Given the description of an element on the screen output the (x, y) to click on. 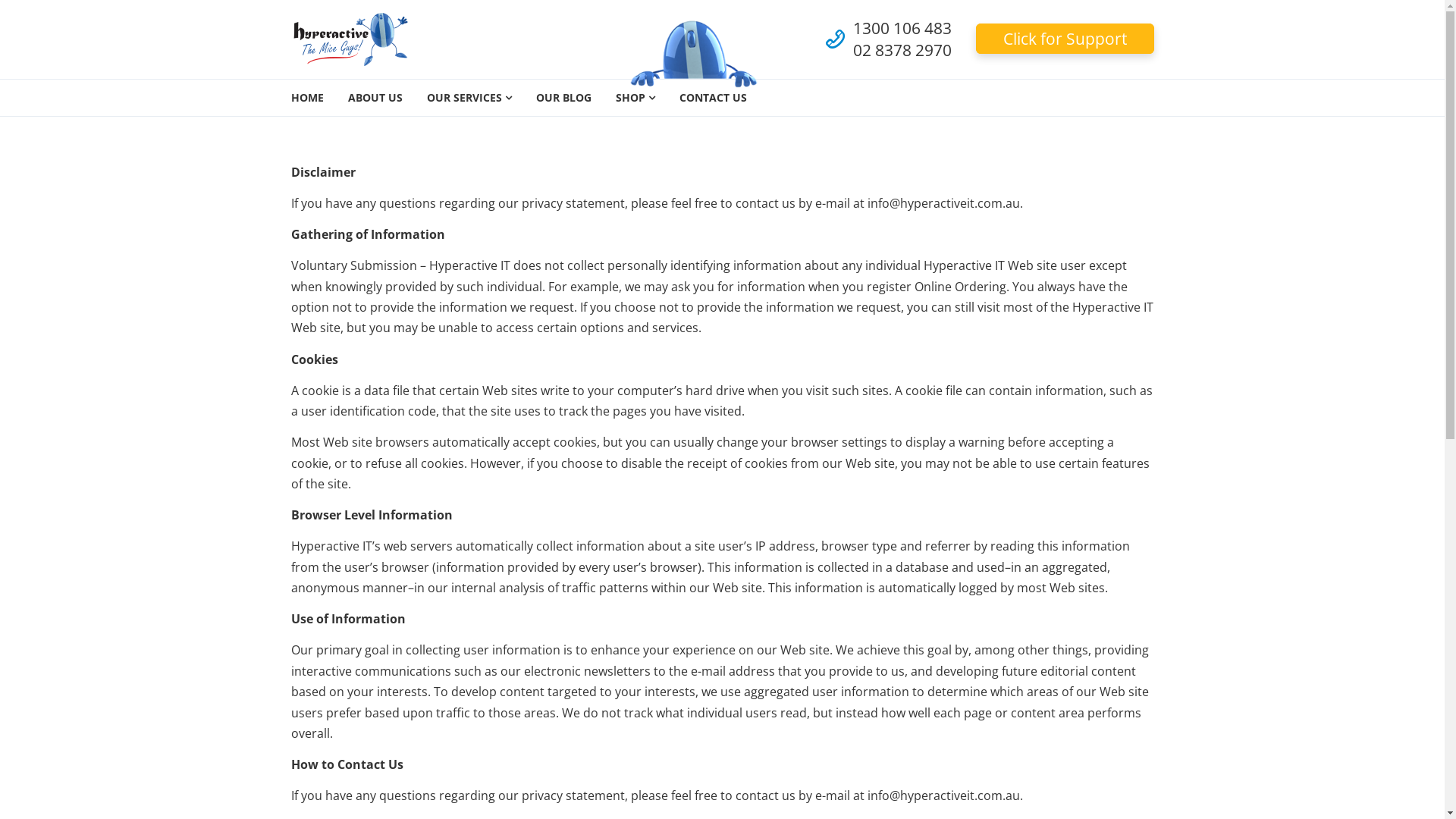
CONTACT US Element type: text (713, 97)
02 8378 2970 Element type: text (901, 49)
SHOP Element type: text (635, 97)
HOME Element type: text (307, 97)
ABOUT US Element type: text (374, 97)
1300 106 483 Element type: text (901, 27)
OUR BLOG Element type: text (562, 97)
OUR SERVICES Element type: text (468, 97)
